Given the description of an element on the screen output the (x, y) to click on. 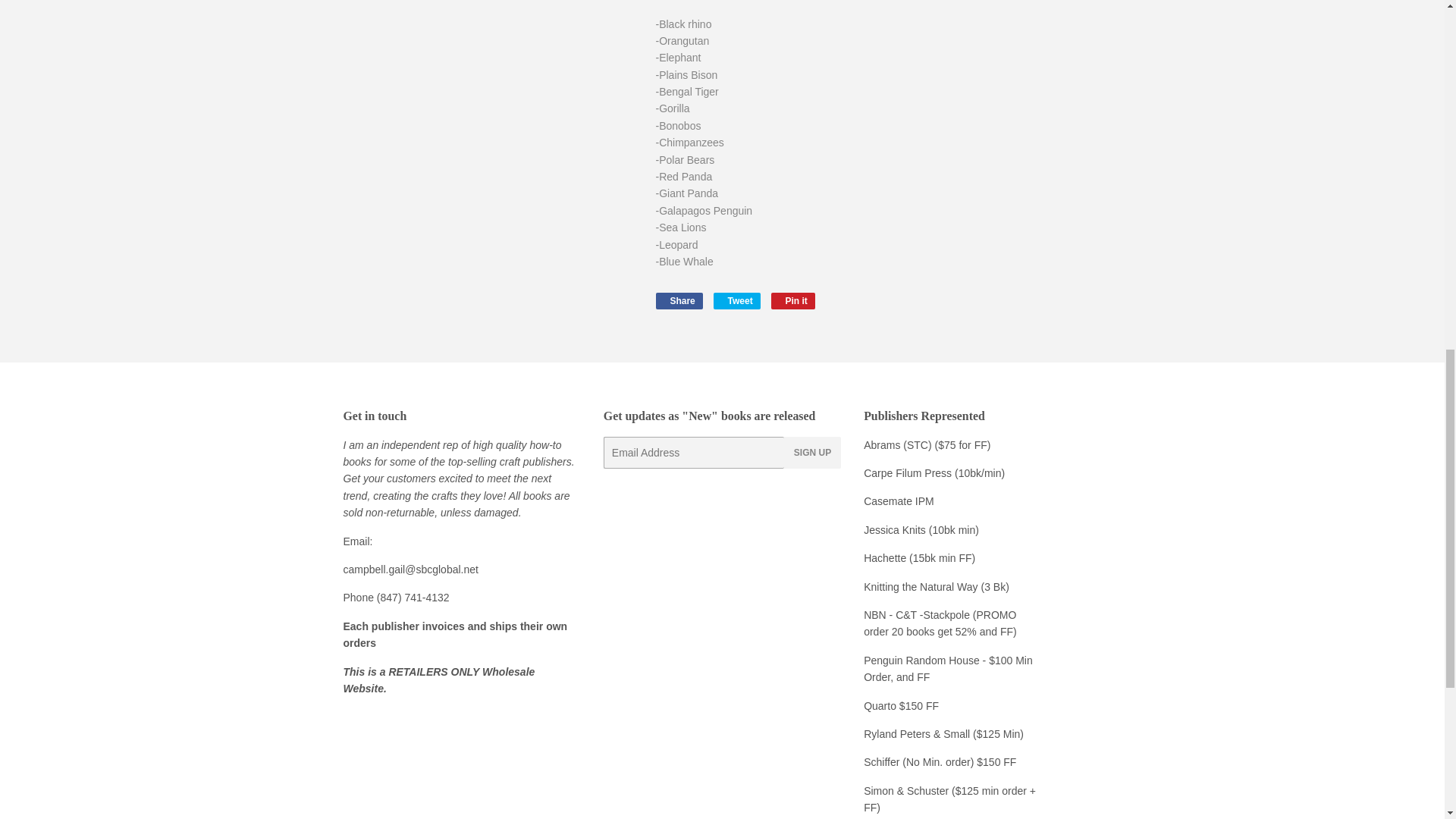
Carpe Filum Press (907, 472)
Tweet on Twitter (736, 300)
SIGN UP (812, 452)
Quarto (881, 705)
Casemate IPM (898, 500)
Share on Facebook (678, 300)
Hachette (884, 558)
Pin on Pinterest (678, 300)
Penguin Random House (793, 300)
